Given the description of an element on the screen output the (x, y) to click on. 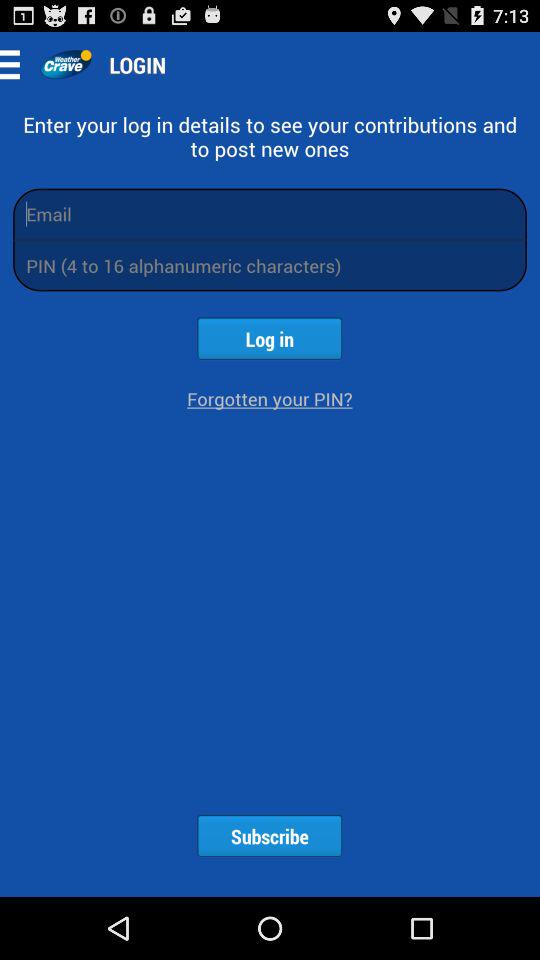
menu (16, 63)
